Given the description of an element on the screen output the (x, y) to click on. 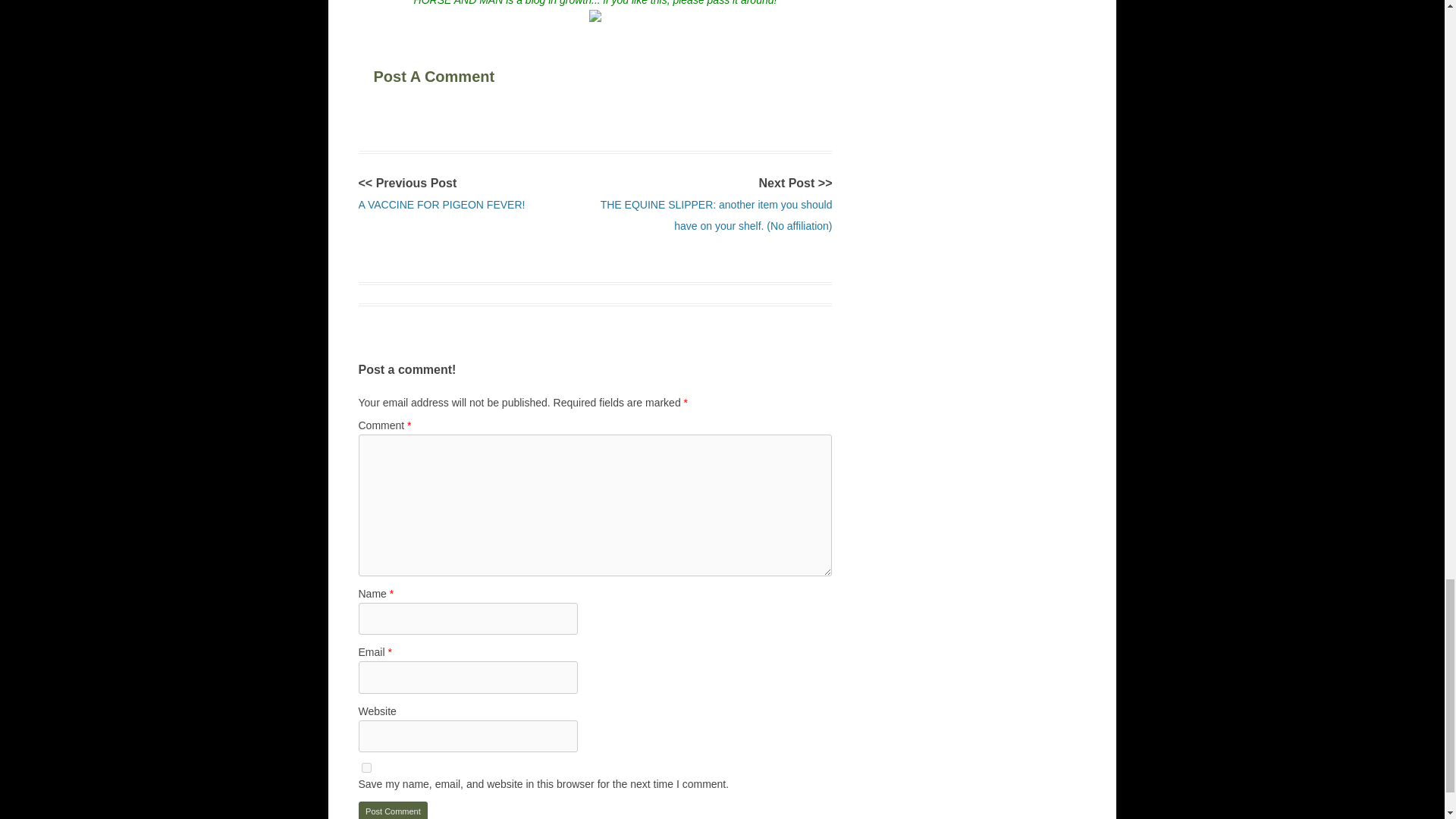
A VACCINE FOR PIGEON FEVER! (441, 204)
yes (366, 767)
Post A Comment (465, 73)
